Given the description of an element on the screen output the (x, y) to click on. 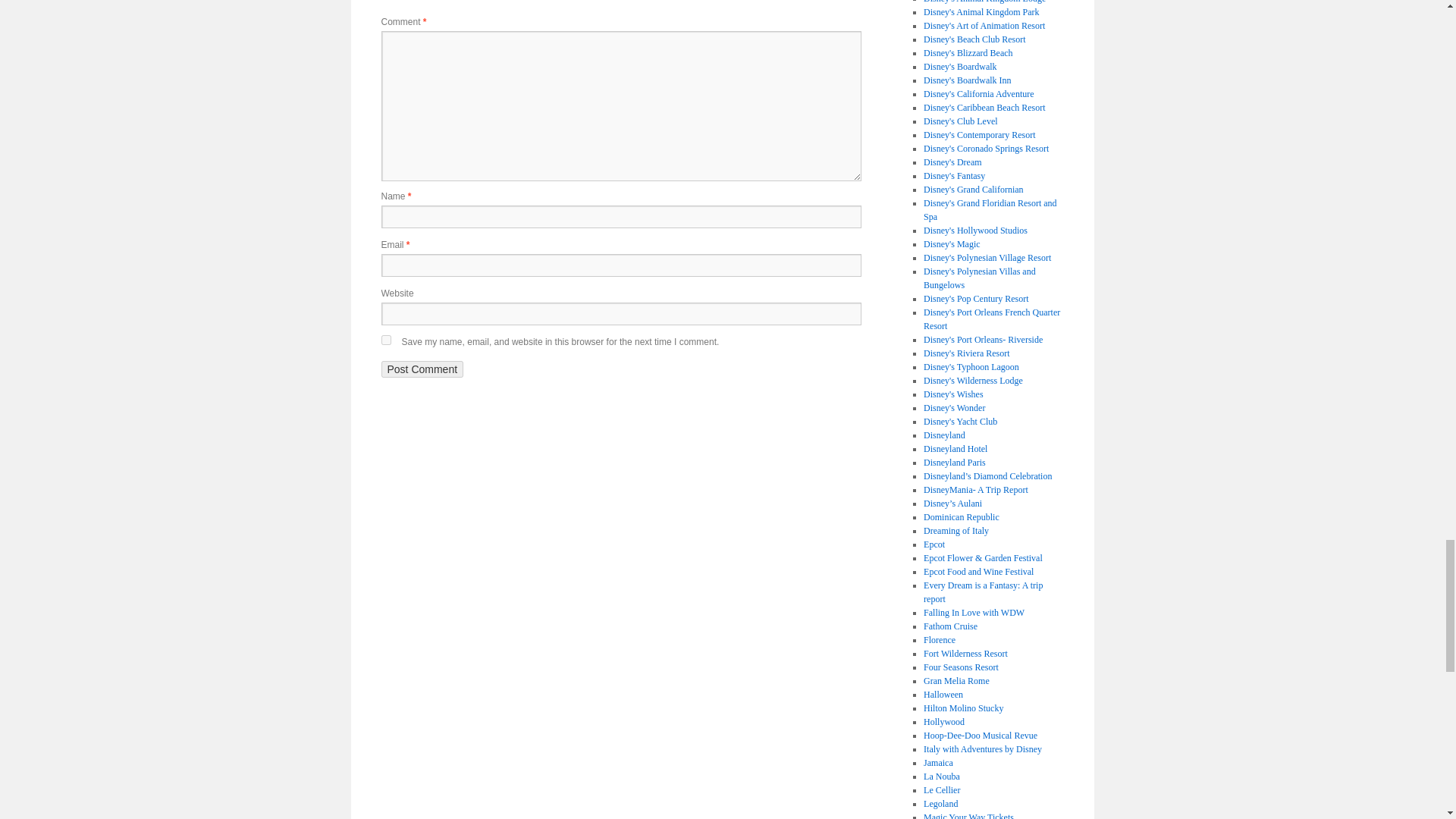
yes (385, 339)
Post Comment (421, 369)
